Given the description of an element on the screen output the (x, y) to click on. 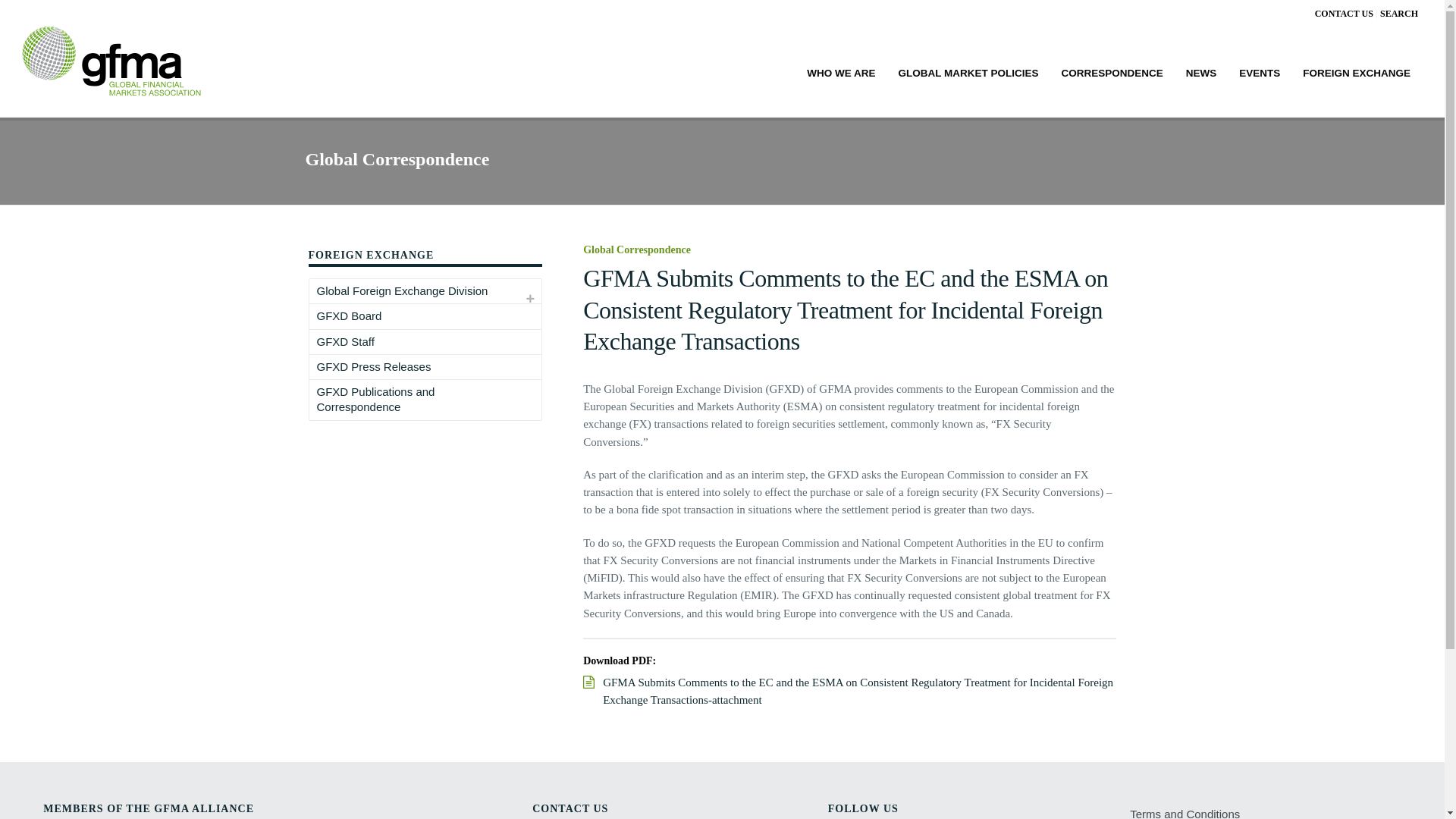
GFXD Publications and Correspondence (415, 400)
GFXD Press Releases (373, 366)
Terms and Conditions (1187, 811)
GLOBAL MARKET POLICIES (967, 71)
CORRESPONDENCE (1111, 71)
WHO WE ARE (840, 71)
CORRESPONDENCE (1111, 71)
CONTACT US (1343, 13)
GFXD Staff (344, 341)
